Given the description of an element on the screen output the (x, y) to click on. 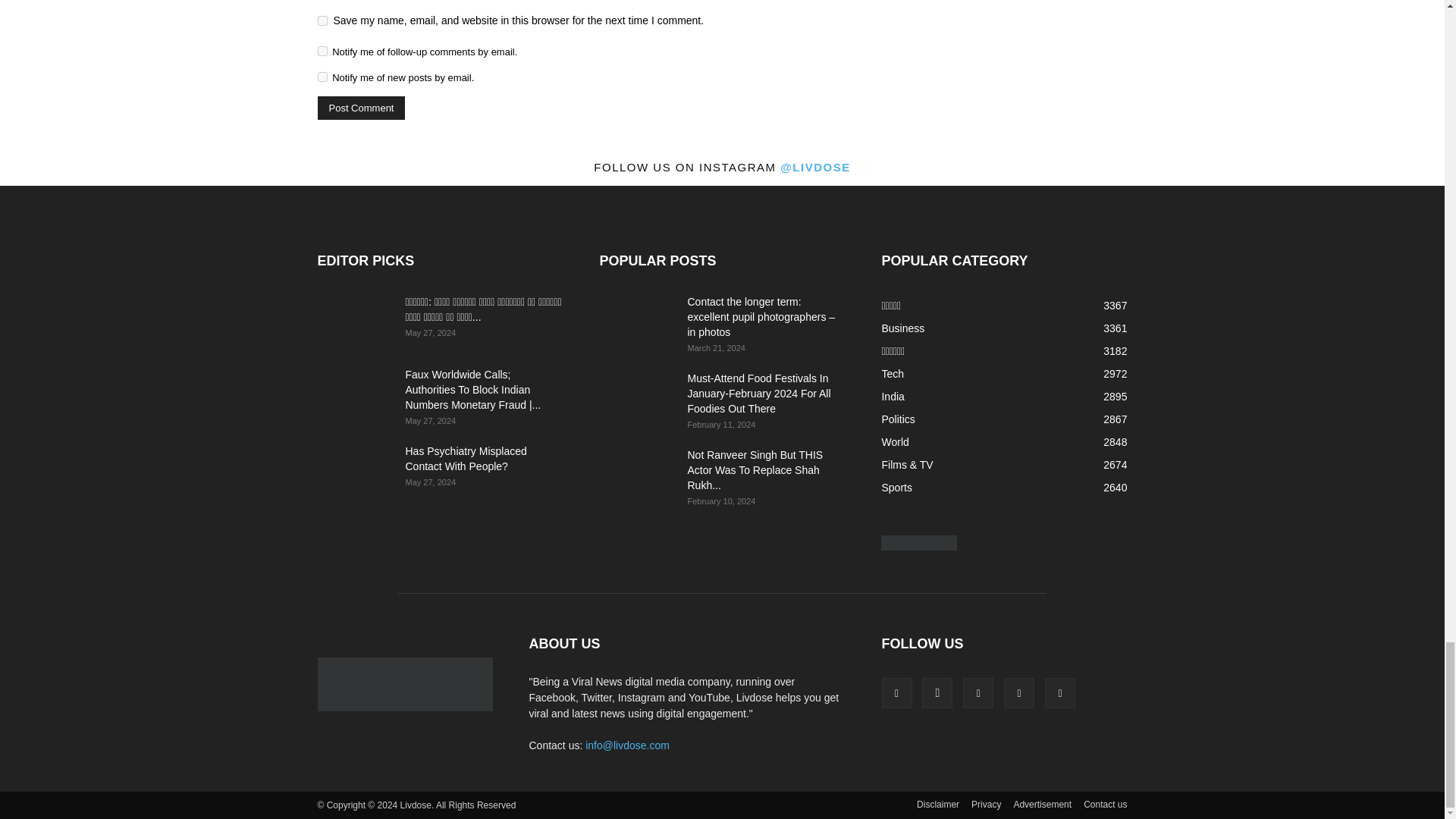
subscribe (321, 76)
Post Comment (360, 107)
subscribe (321, 50)
yes (321, 20)
